Given the description of an element on the screen output the (x, y) to click on. 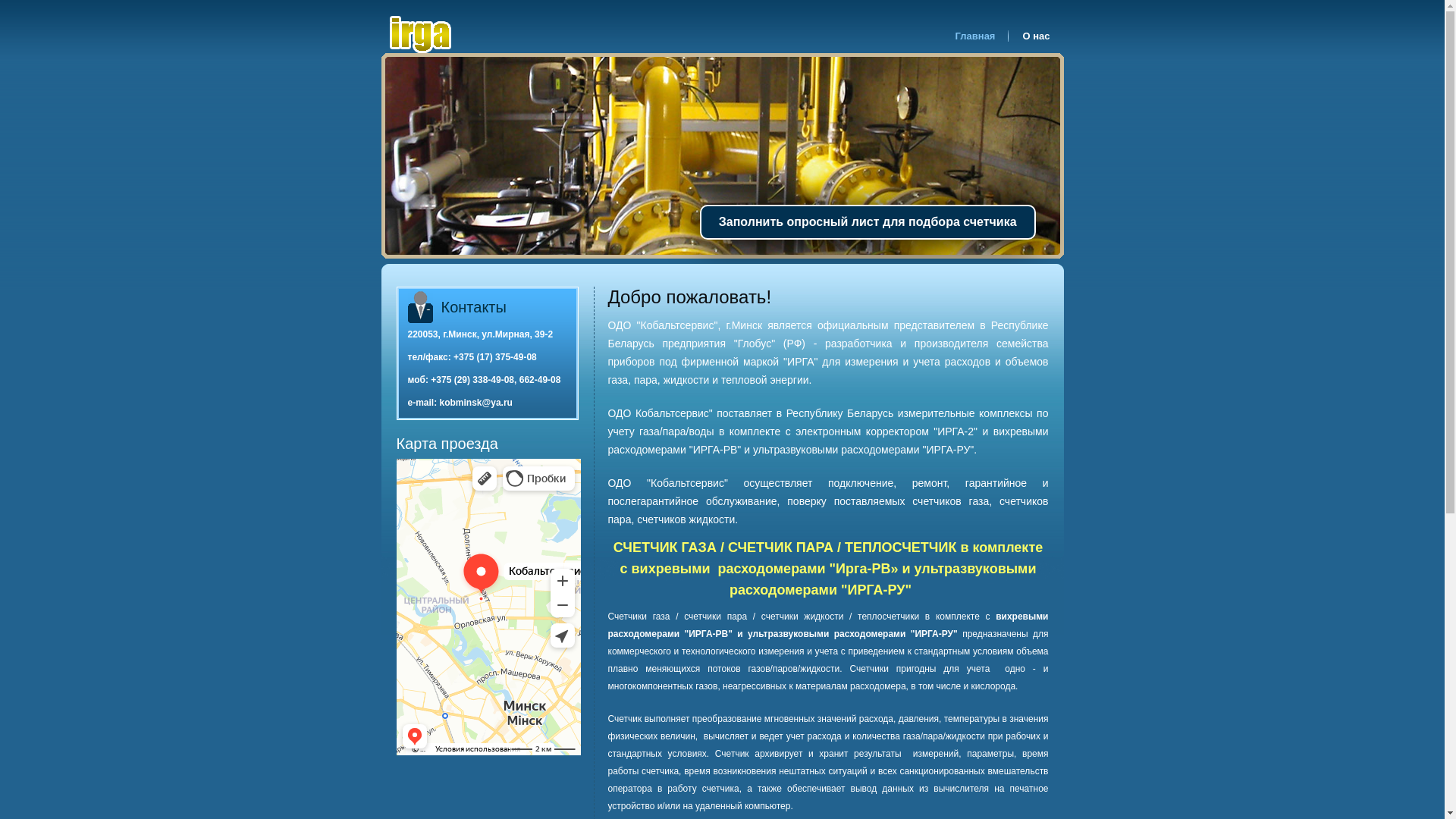
Irga Element type: text (421, 34)
